Given the description of an element on the screen output the (x, y) to click on. 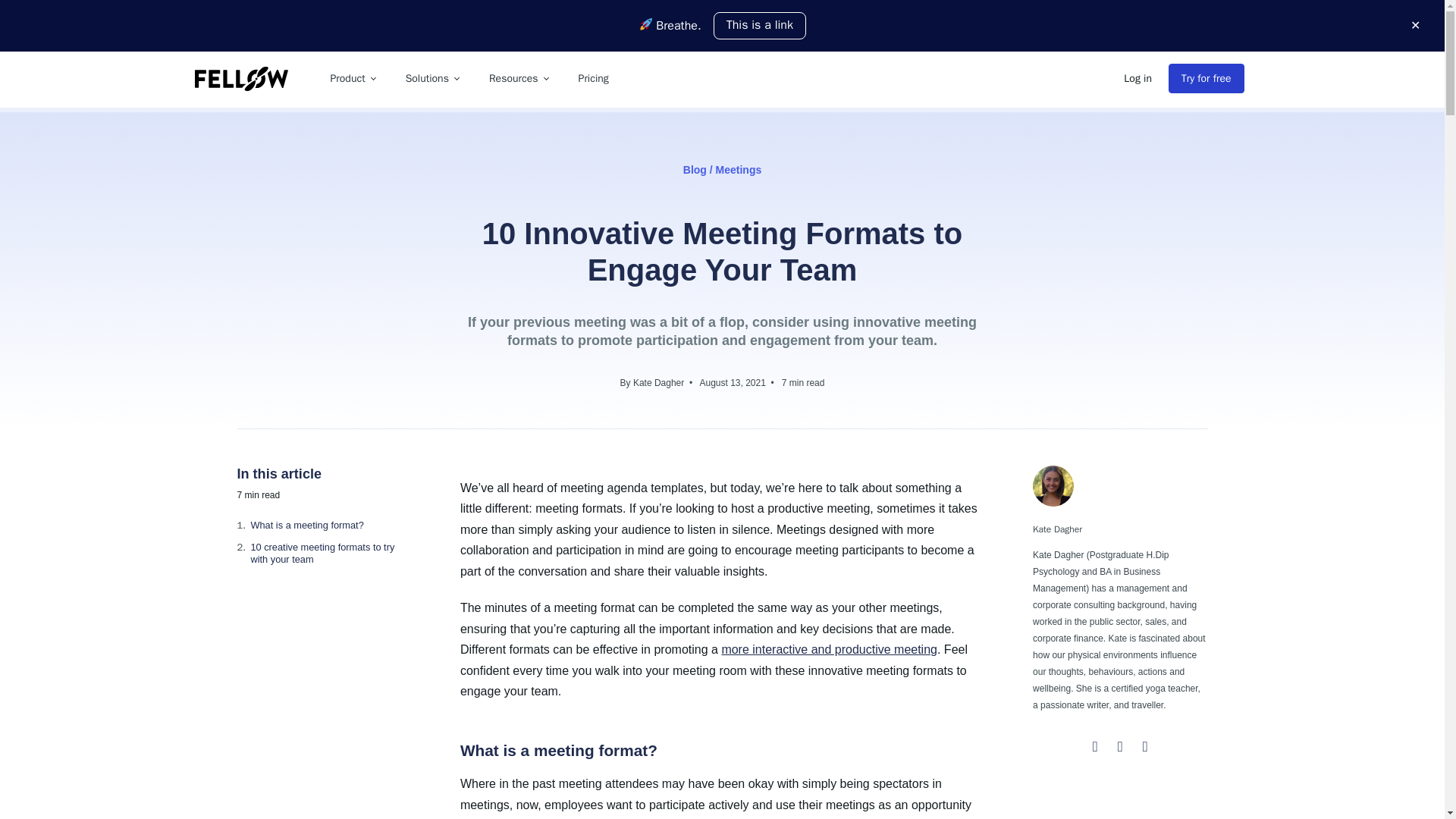
Solutions (431, 79)
Product (352, 79)
